Given the description of an element on the screen output the (x, y) to click on. 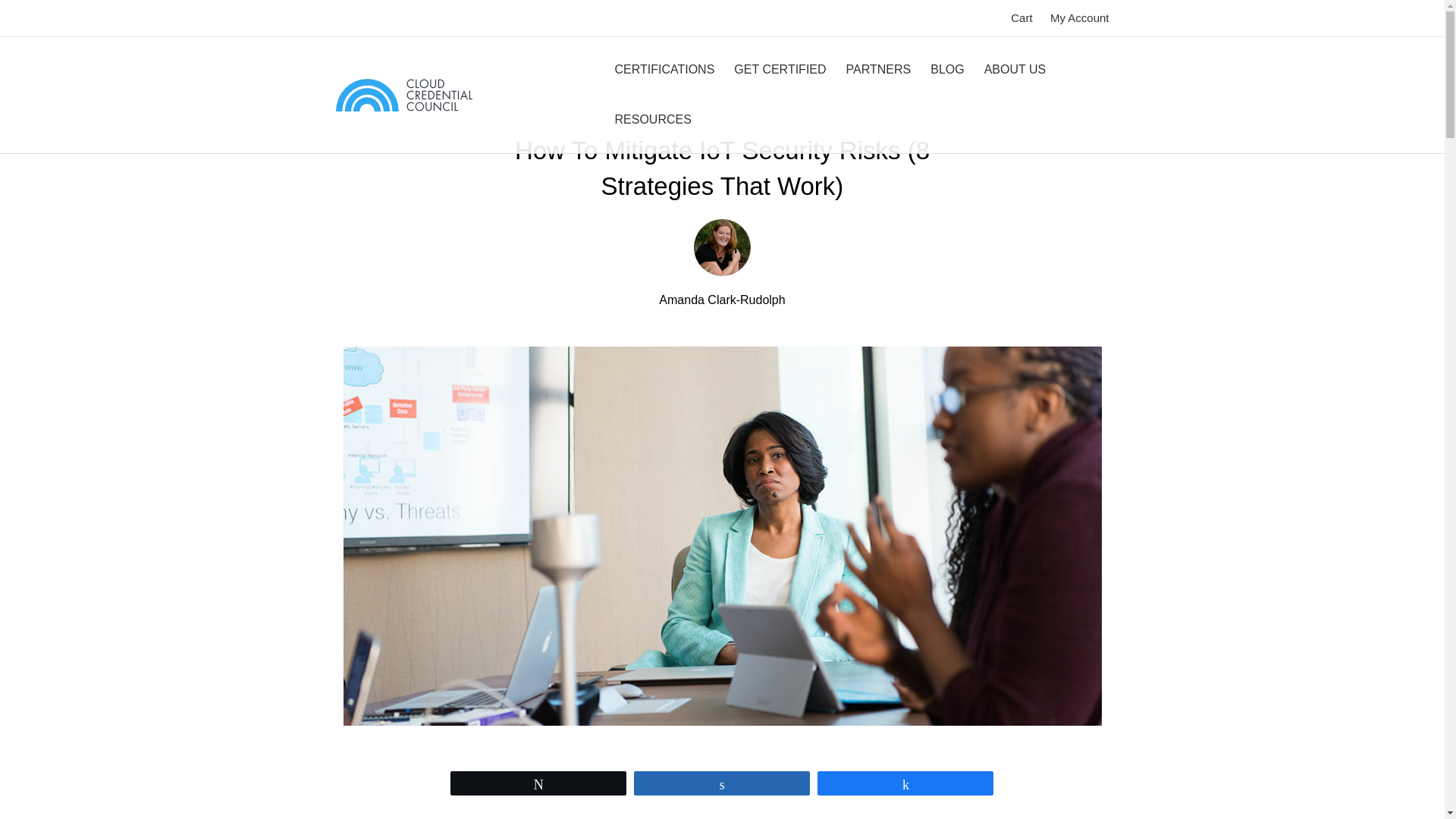
Amanda Clark-Rudolph (722, 247)
RESOURCES (652, 119)
GET CERTIFIED (779, 69)
CERTIFICATIONS (663, 69)
BLOG (947, 69)
My Account (1079, 18)
PARTNERS (878, 69)
Cart (1021, 18)
ABOUT US (1015, 69)
